Given the description of an element on the screen output the (x, y) to click on. 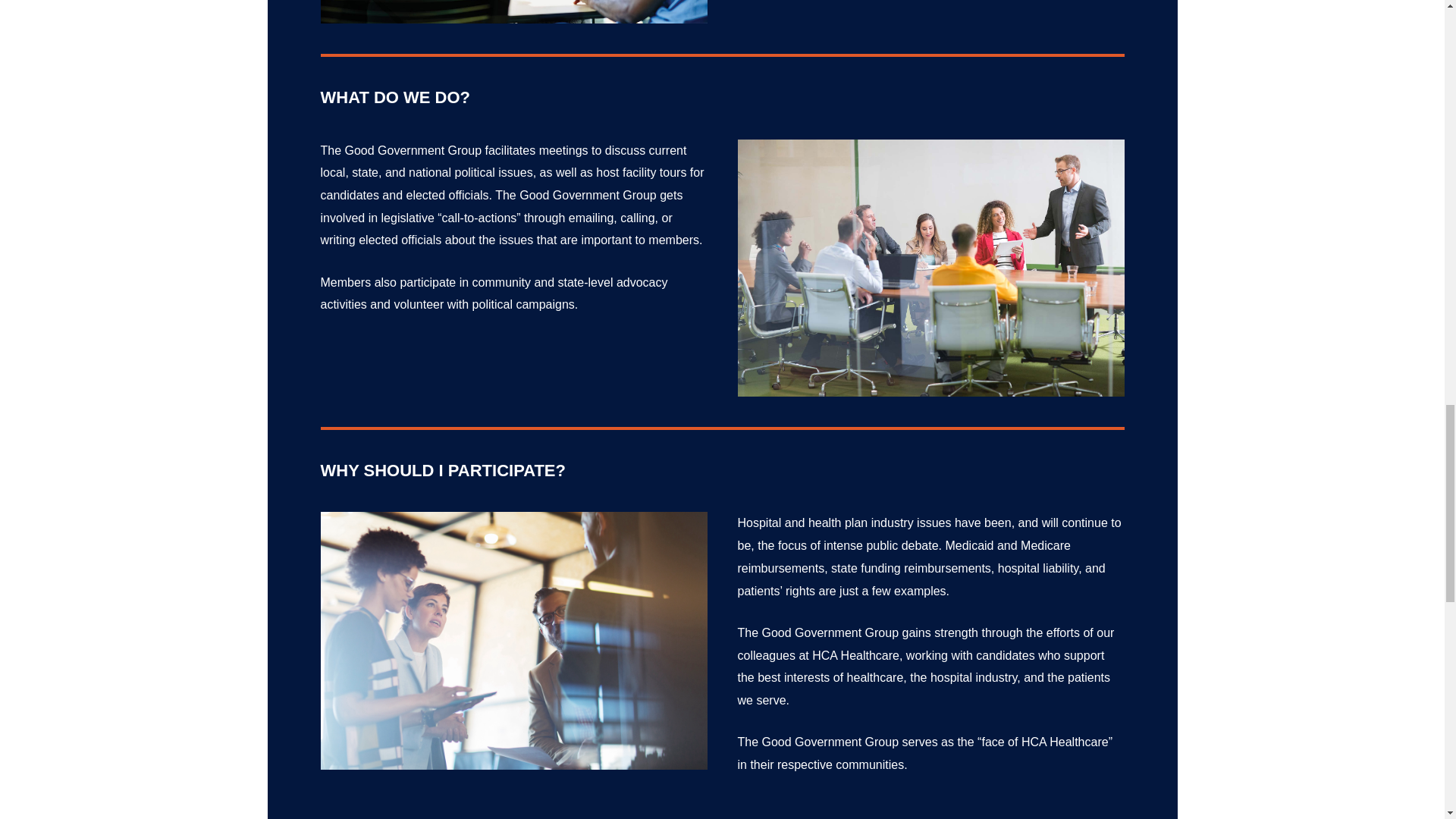
Business people having meeting (513, 640)
